Given the description of an element on the screen output the (x, y) to click on. 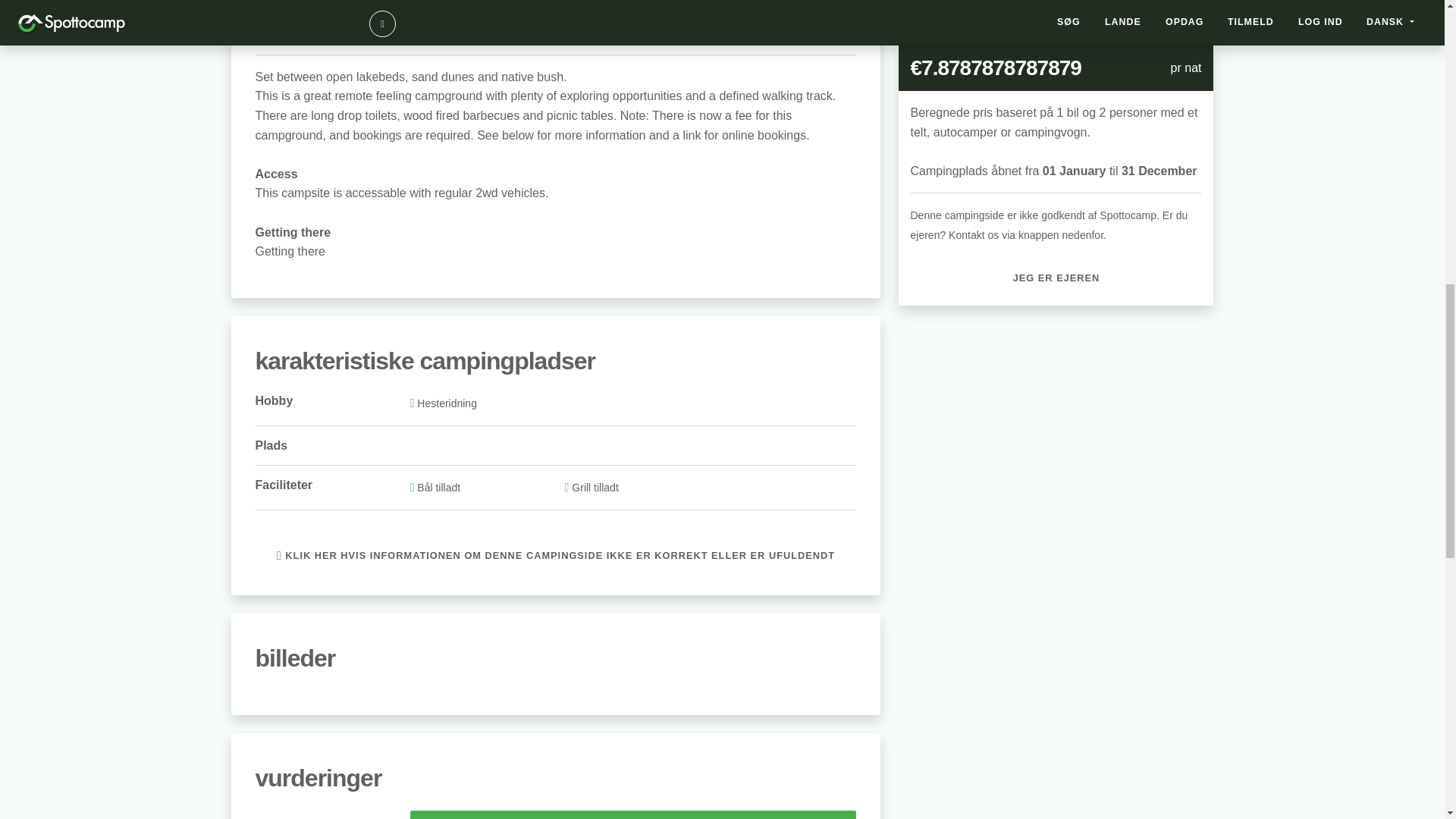
SKRIV EN VURDERING OM CASUARINA CAMPGROUND (632, 814)
